Given the description of an element on the screen output the (x, y) to click on. 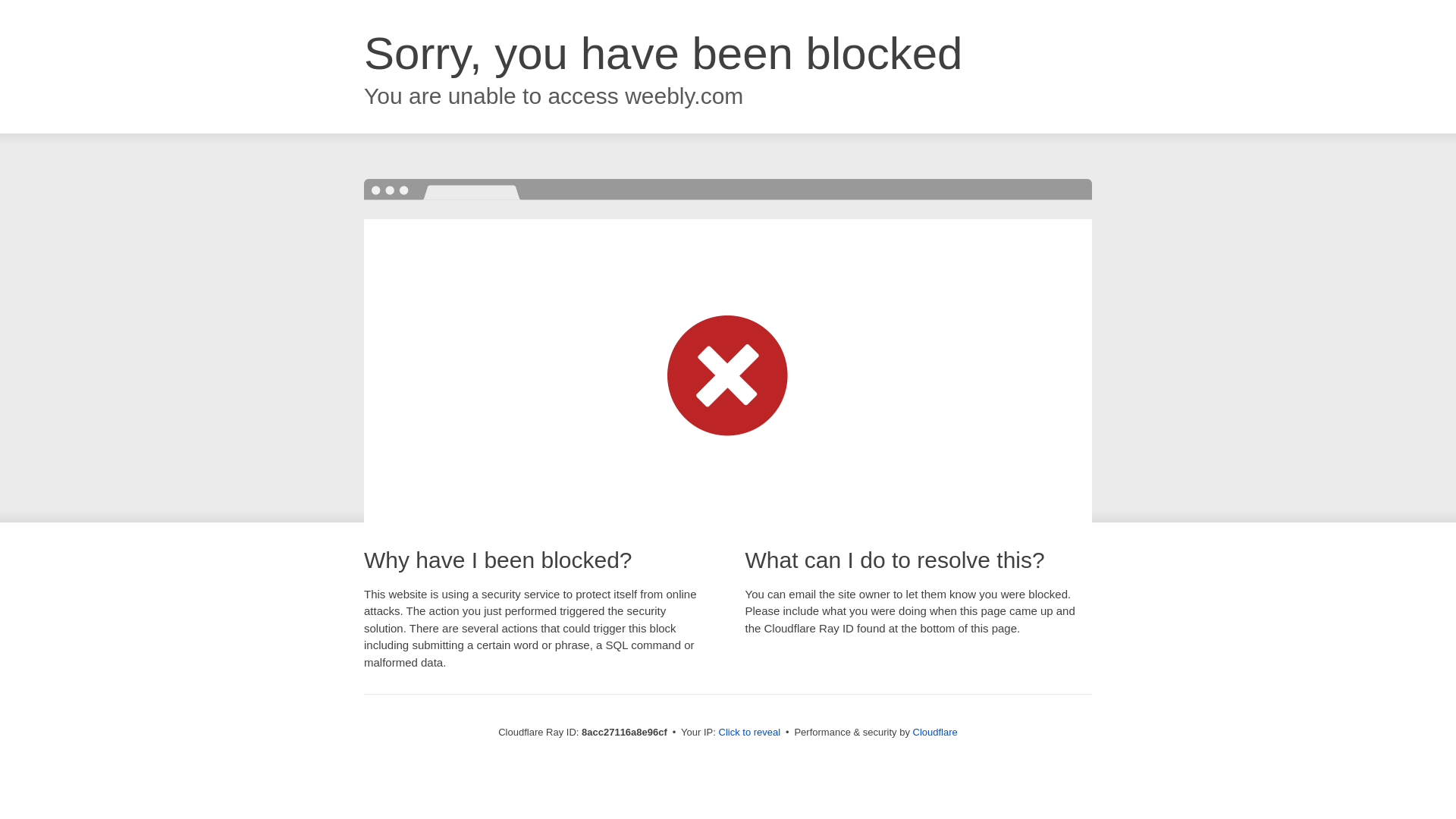
Click to reveal (749, 732)
Cloudflare (935, 731)
